Given the description of an element on the screen output the (x, y) to click on. 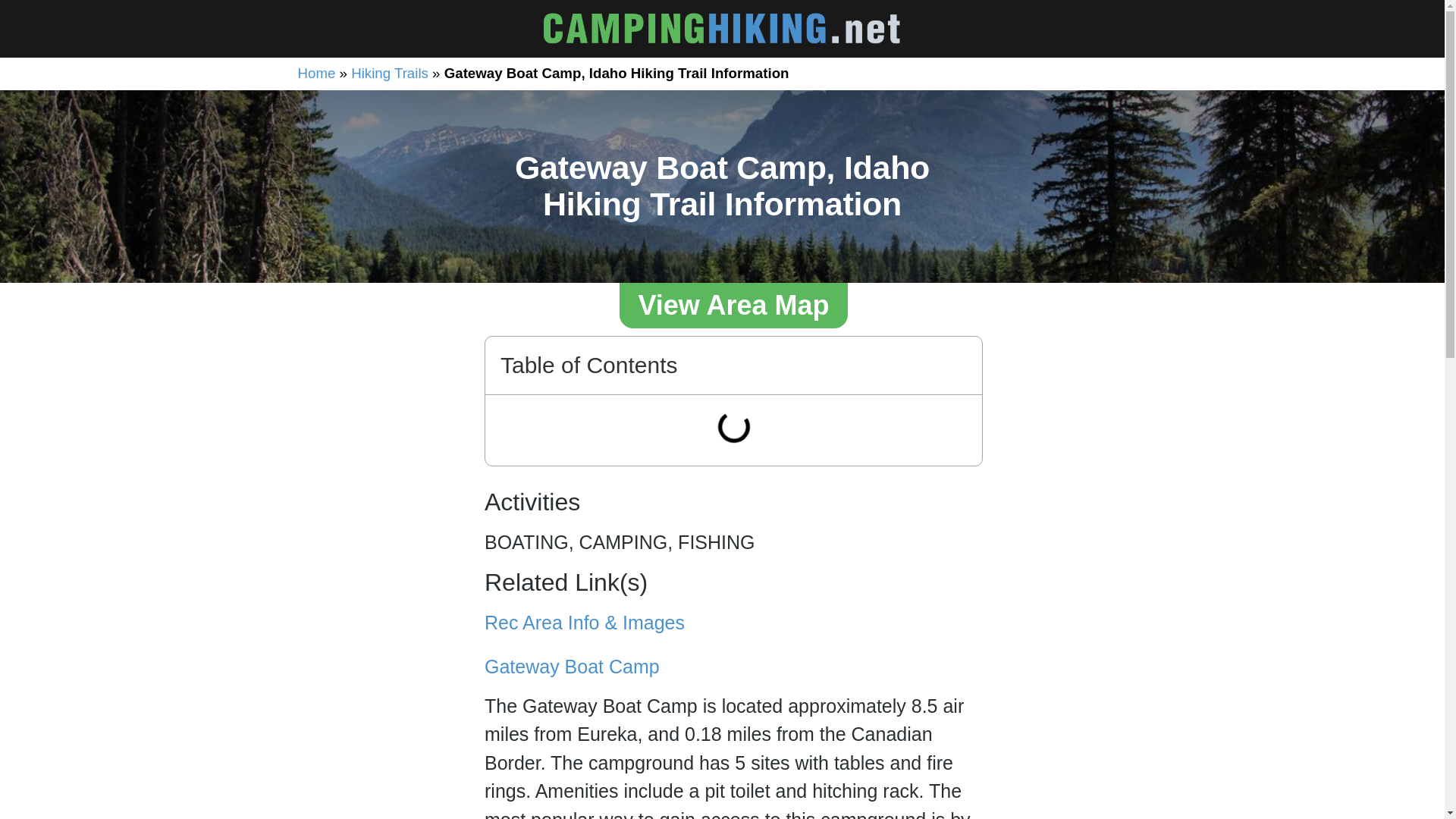
View Area Map (733, 305)
Gateway Boat Camp (571, 666)
Home (315, 73)
Hiking Trails (389, 73)
